Given the description of an element on the screen output the (x, y) to click on. 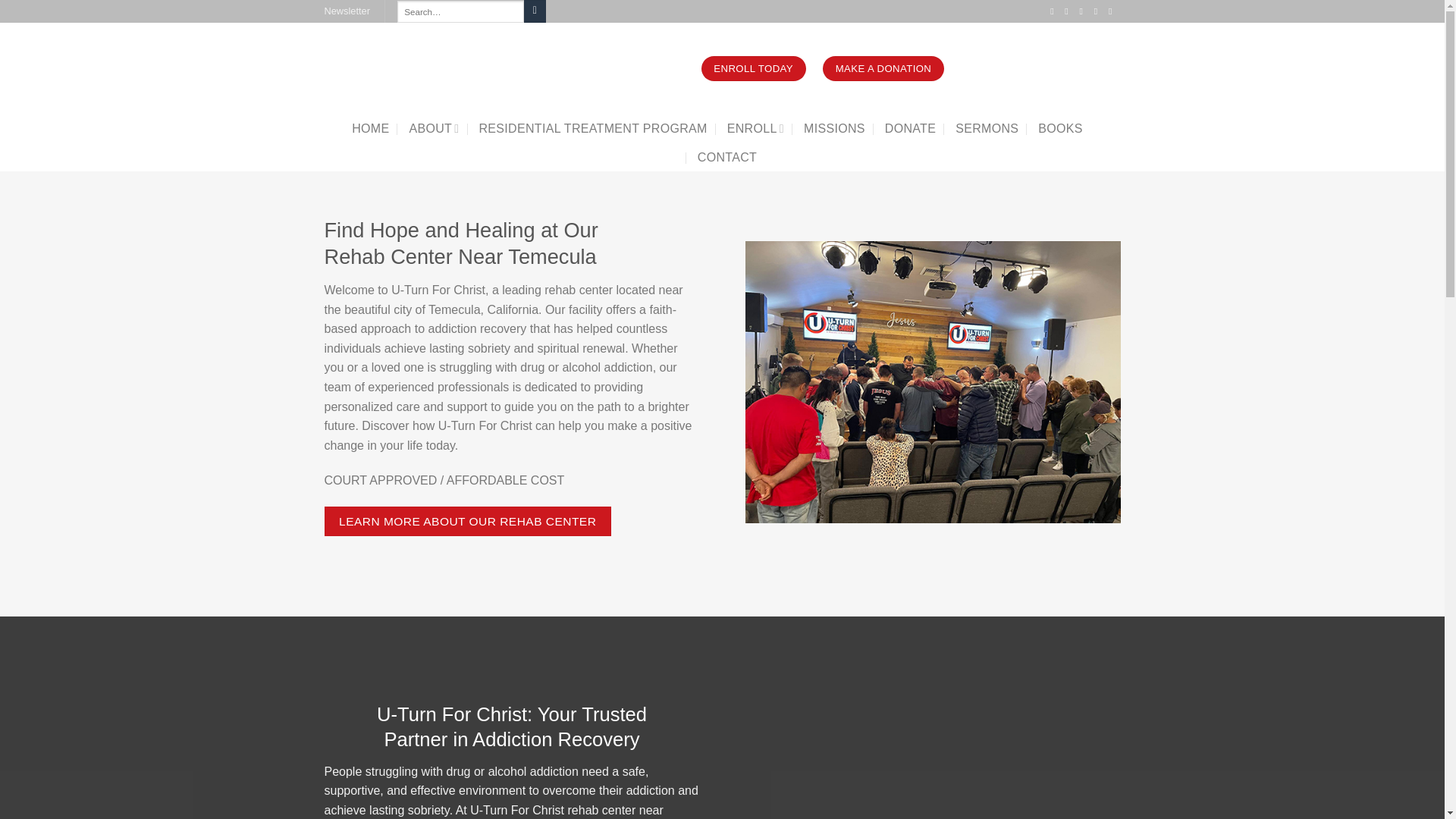
Newsletter (346, 11)
DONATE (910, 128)
LEARN MORE ABOUT OUR REHAB CENTER (467, 521)
MISSIONS (833, 128)
RESIDENTIAL TREATMENT PROGRAM (593, 128)
ENROLL (755, 128)
CONTACT (727, 157)
SERMONS (986, 128)
HOME (370, 128)
